Given the description of an element on the screen output the (x, y) to click on. 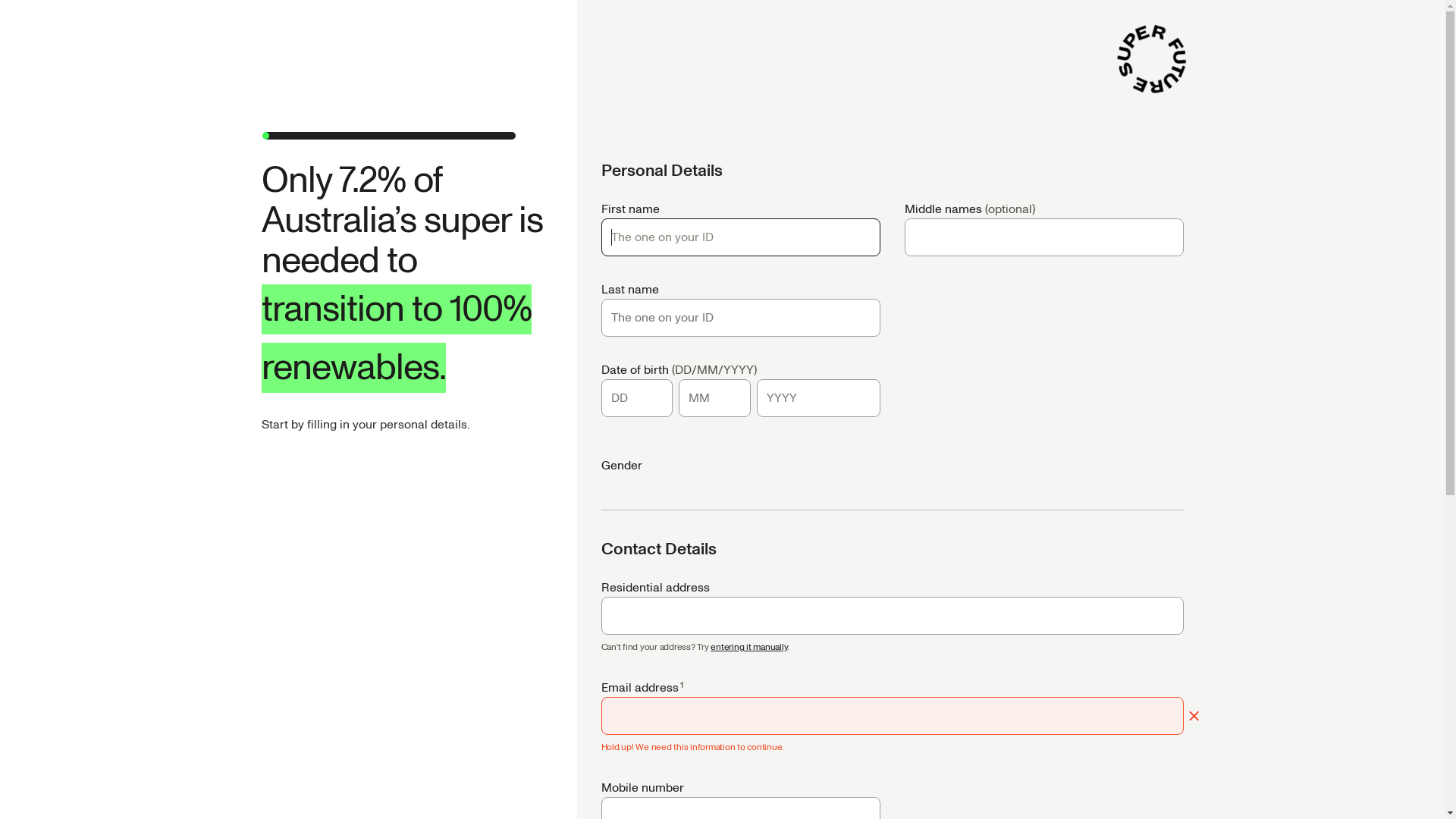
entering it manually Element type: text (748, 646)
